Given the description of an element on the screen output the (x, y) to click on. 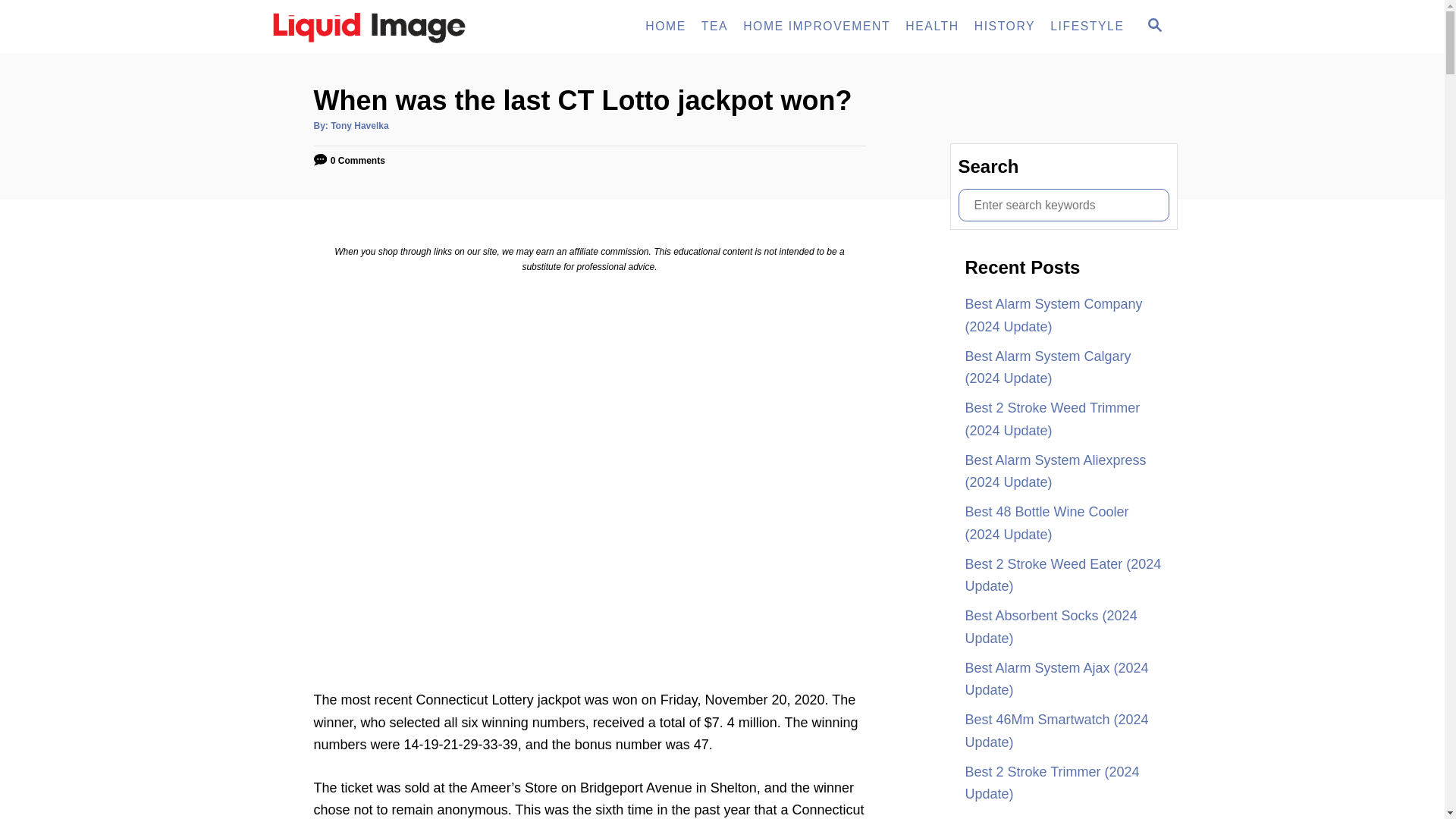
HISTORY (1004, 26)
TEA (714, 26)
HOME IMPROVEMENT (816, 26)
Tony Havelka (1153, 26)
YouTube player (359, 125)
LIFESTYLE (403, 26)
HOME (1086, 26)
HEALTH (665, 26)
MAGNIFYING GLASS (932, 26)
